Given the description of an element on the screen output the (x, y) to click on. 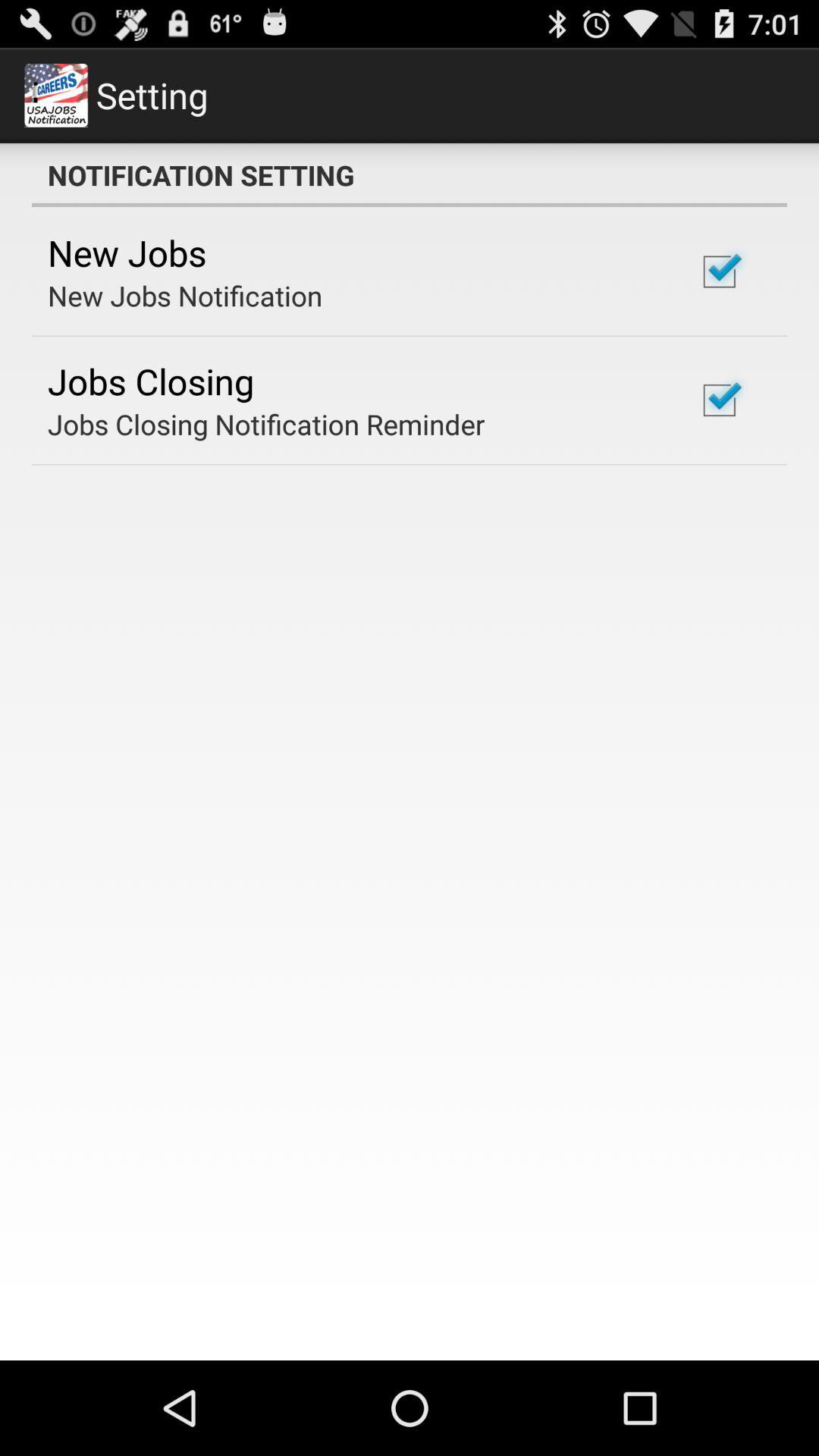
flip to the notification setting icon (409, 175)
